Given the description of an element on the screen output the (x, y) to click on. 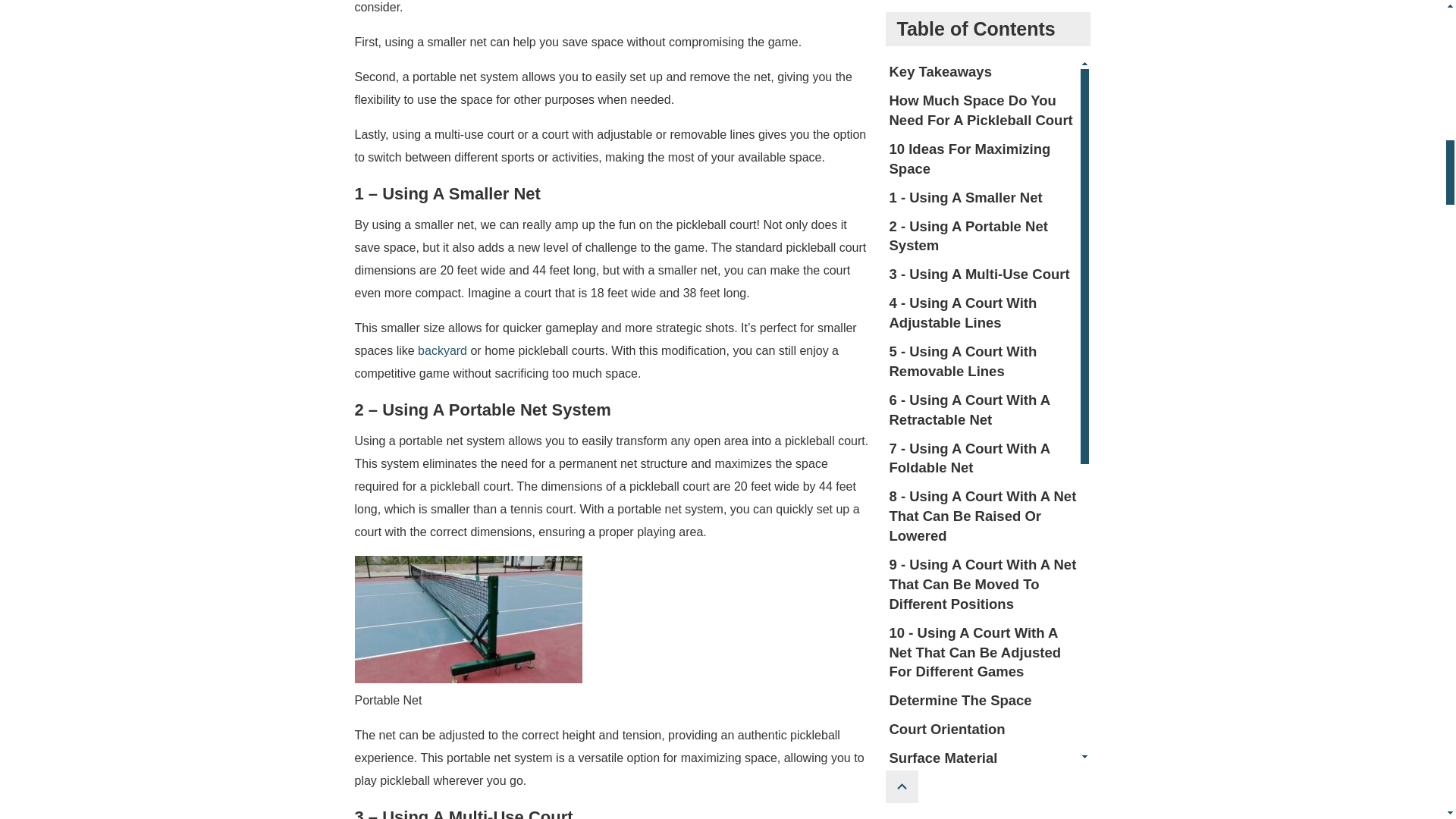
backyard (442, 350)
